Given the description of an element on the screen output the (x, y) to click on. 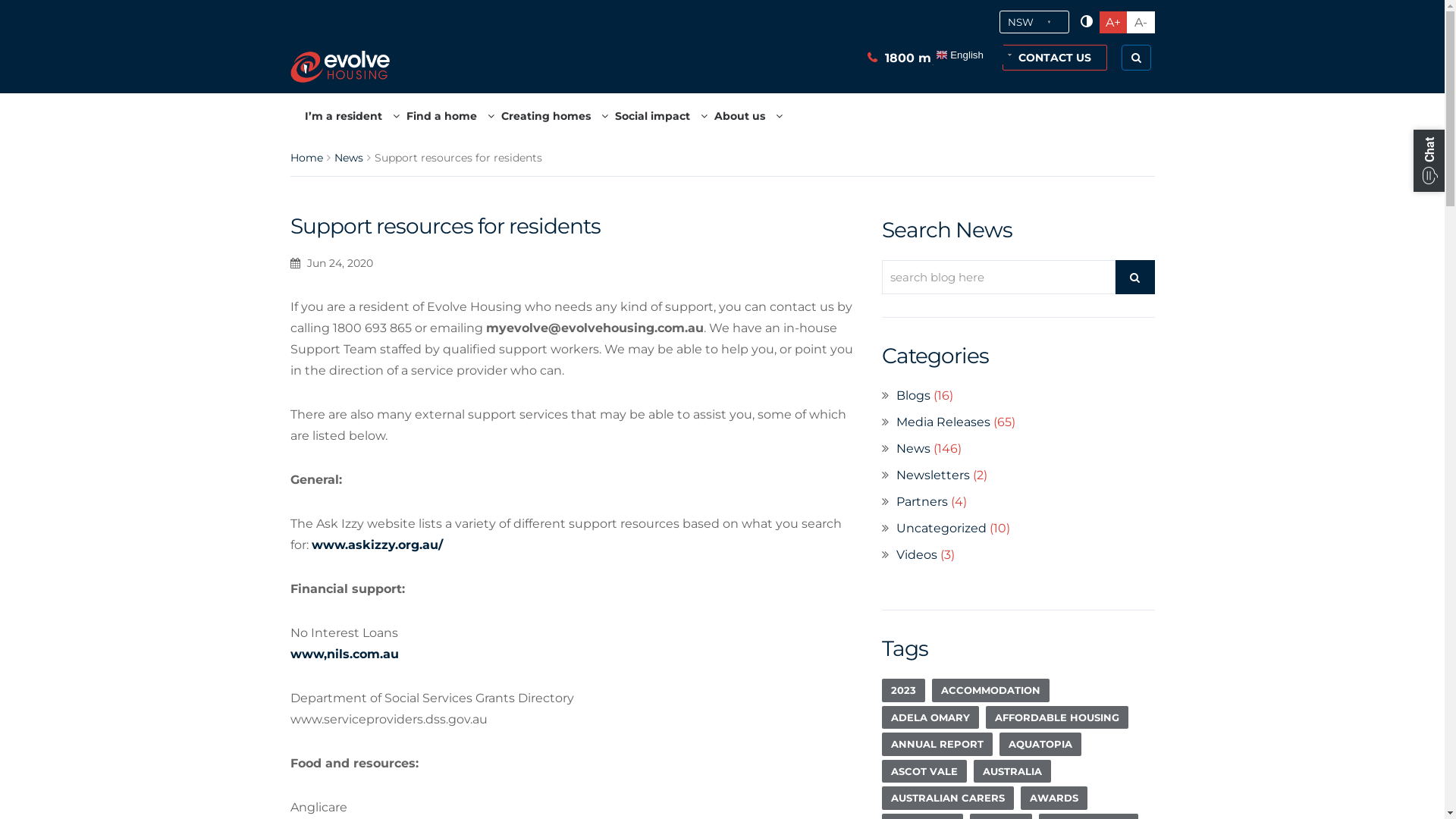
CONTACT US Element type: text (1054, 57)
myevolve@evolvehousing.com.au Element type: text (593, 327)
News Element type: text (913, 448)
AFFORDABLE HOUSING Element type: text (1056, 717)
AUSTRALIAN CARERS Element type: text (947, 797)
Search Element type: text (971, 15)
AQUATOPIA Element type: text (1040, 744)
ACCOMMODATION Element type: text (989, 690)
A+ Element type: text (1112, 21)
A- Element type: text (1140, 21)
www.askizzy.org.au/ Element type: text (376, 544)
AUSTRALIA Element type: text (1012, 771)
2023 Element type: text (902, 690)
Find a home Element type: text (449, 115)
Toggle High Contrast Element type: text (1085, 22)
AWARDS Element type: text (1053, 797)
Blogs Element type: text (913, 395)
English Element type: text (992, 54)
Newsletters Element type: text (932, 474)
Media Releases Element type: text (943, 421)
1800 myevolve Element type: text (927, 56)
ANNUAL REPORT Element type: text (936, 744)
Partners Element type: text (921, 501)
Home Element type: text (305, 157)
Creating homes Element type: text (554, 115)
ASCOT VALE Element type: text (923, 771)
News Element type: text (347, 157)
About us Element type: text (747, 115)
Videos Element type: text (916, 554)
Social impact Element type: text (661, 115)
www,nils.com.au Element type: text (343, 653)
Uncategorized Element type: text (941, 527)
ADELA OMARY Element type: text (929, 717)
